Given the description of an element on the screen output the (x, y) to click on. 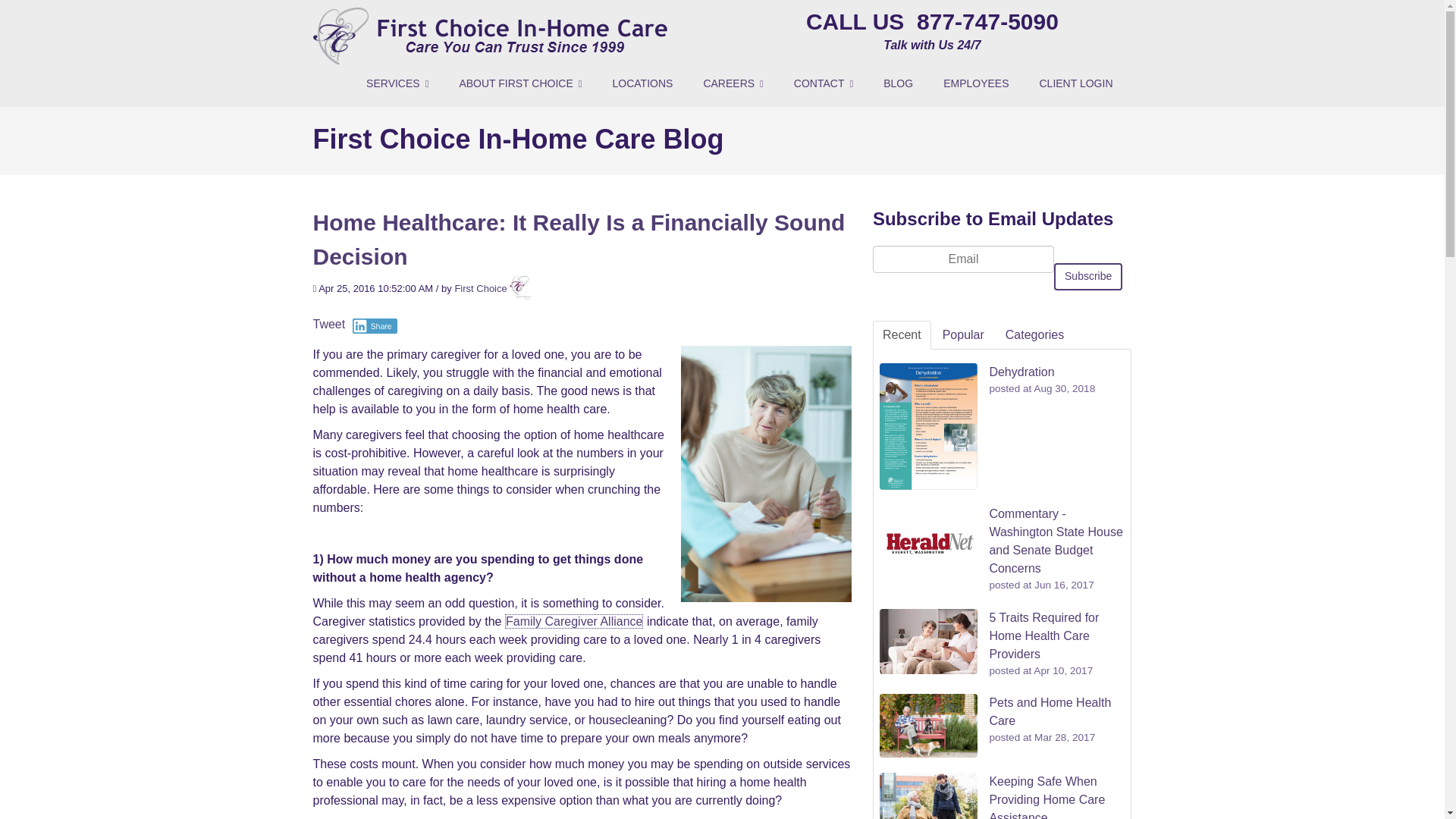
Home Healthcare: It Really Is a Financially Sound Decision (578, 239)
5 Traits Required for Home Health Care Providers (1043, 635)
CONTACT (823, 83)
Popular (963, 335)
Subscribe (1088, 276)
Tweet (329, 323)
Categories (1034, 335)
ABOUT FIRST CHOICE (519, 83)
Subscribe (1088, 276)
SERVICES (397, 83)
Dehydration (1021, 371)
LOCATIONS (642, 83)
Keeping Safe When Providing Home Care Assistance (1046, 796)
CAREERS (732, 83)
